Given the description of an element on the screen output the (x, y) to click on. 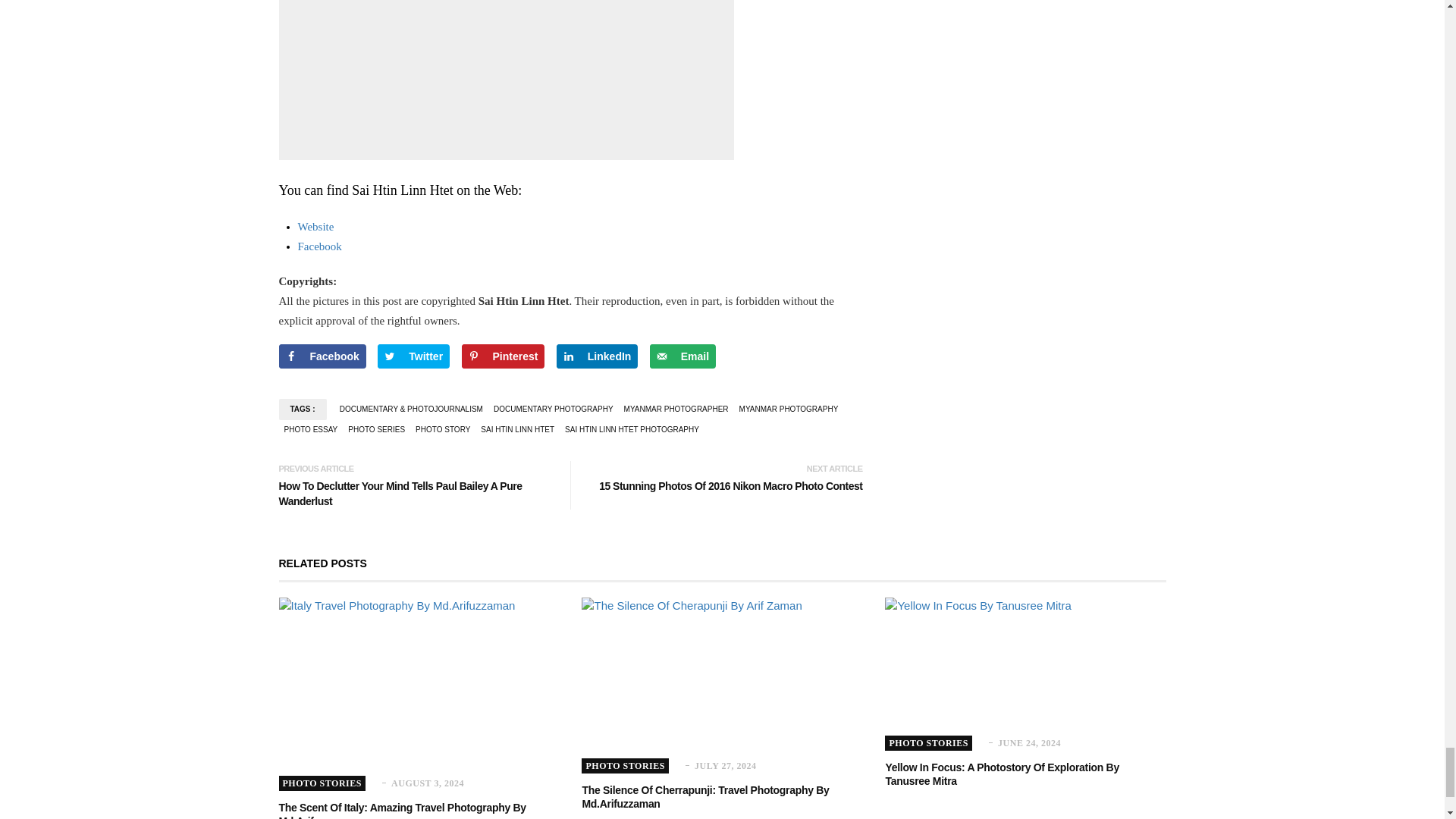
Save to Pinterest (502, 355)
Share on LinkedIn (597, 355)
Send over email (682, 355)
Share on Twitter (413, 355)
Share on Facebook (322, 355)
